Given the description of an element on the screen output the (x, y) to click on. 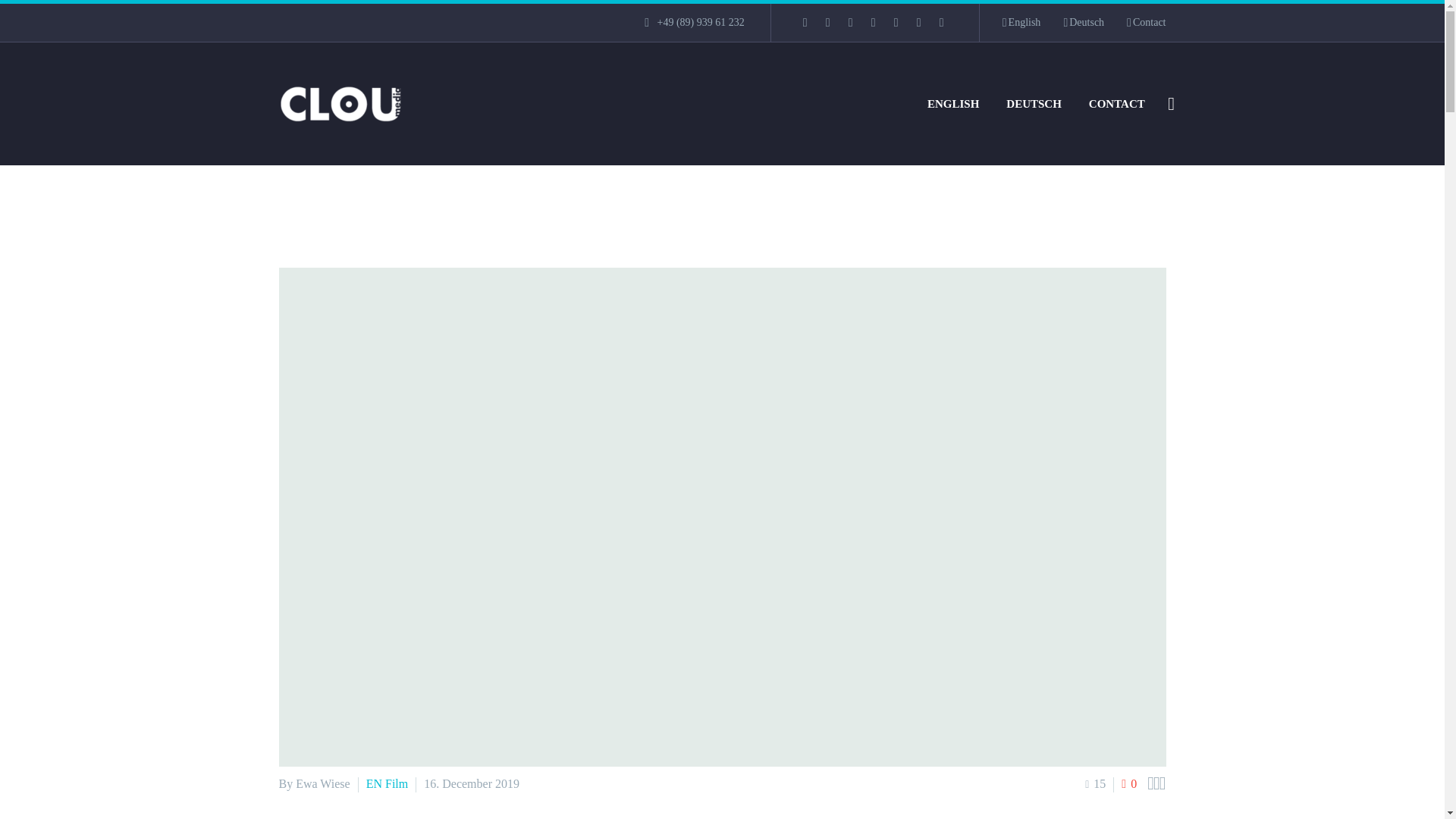
Instagram (873, 22)
ENGLISH (952, 103)
Pinterest (896, 22)
Contact (1146, 22)
LinkedIn (828, 22)
Facebook (804, 22)
Deutsch (1082, 22)
View all posts in EN Film (387, 783)
DEUTSCH (1033, 103)
Twitter (850, 22)
